Given the description of an element on the screen output the (x, y) to click on. 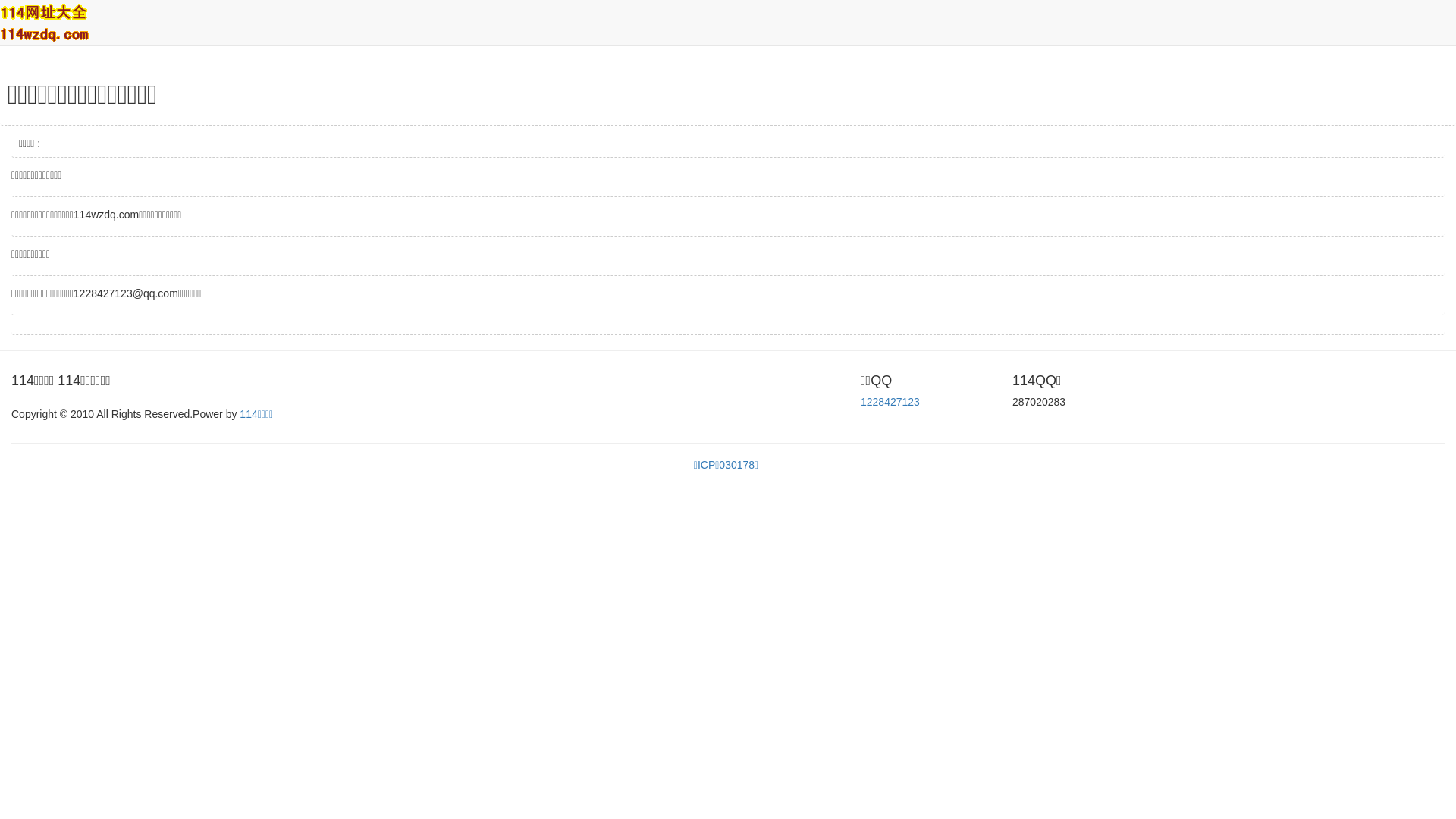
1228427123 Element type: text (889, 401)
